Given the description of an element on the screen output the (x, y) to click on. 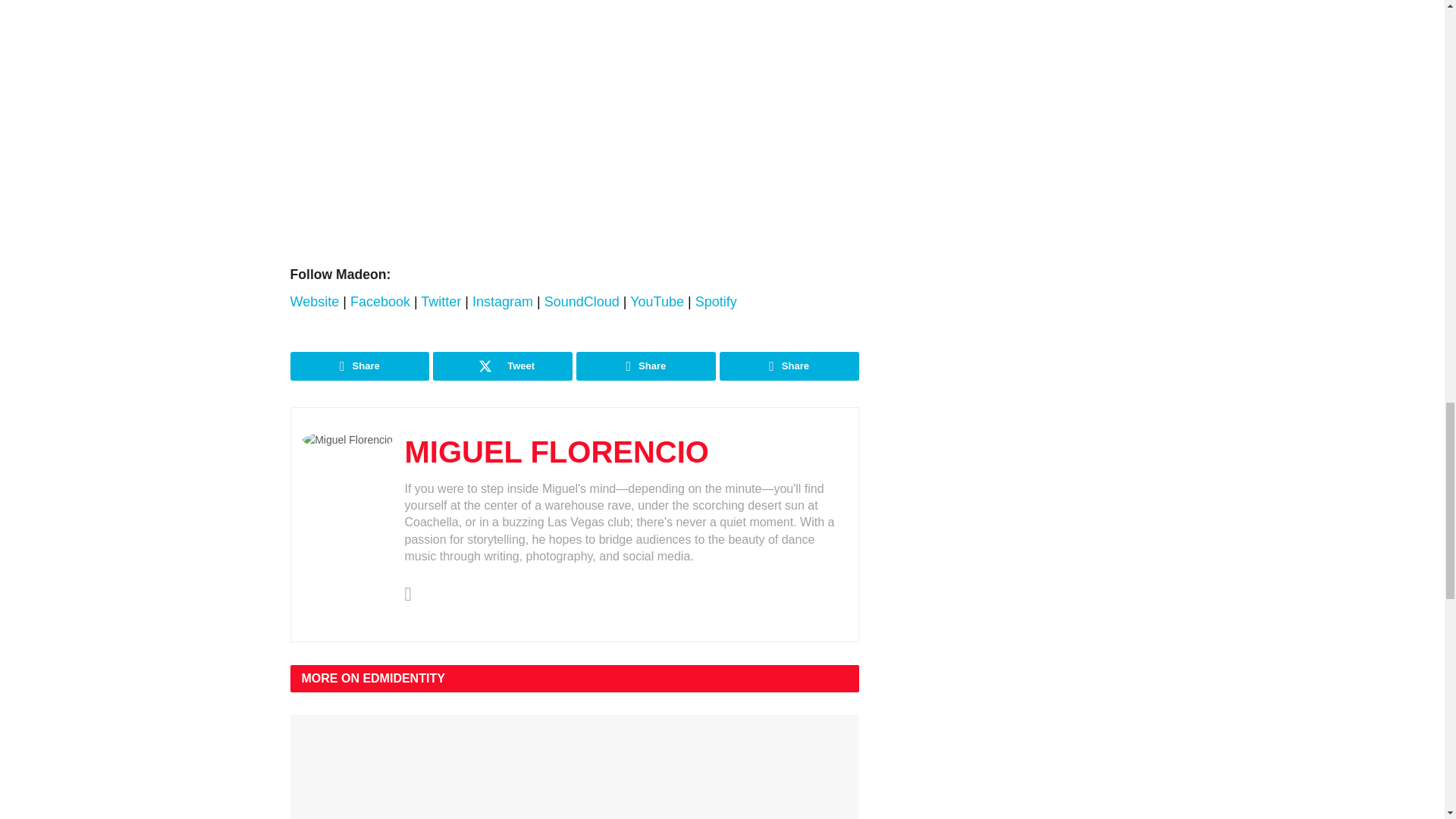
Facebook  (381, 301)
Website (314, 301)
